Given the description of an element on the screen output the (x, y) to click on. 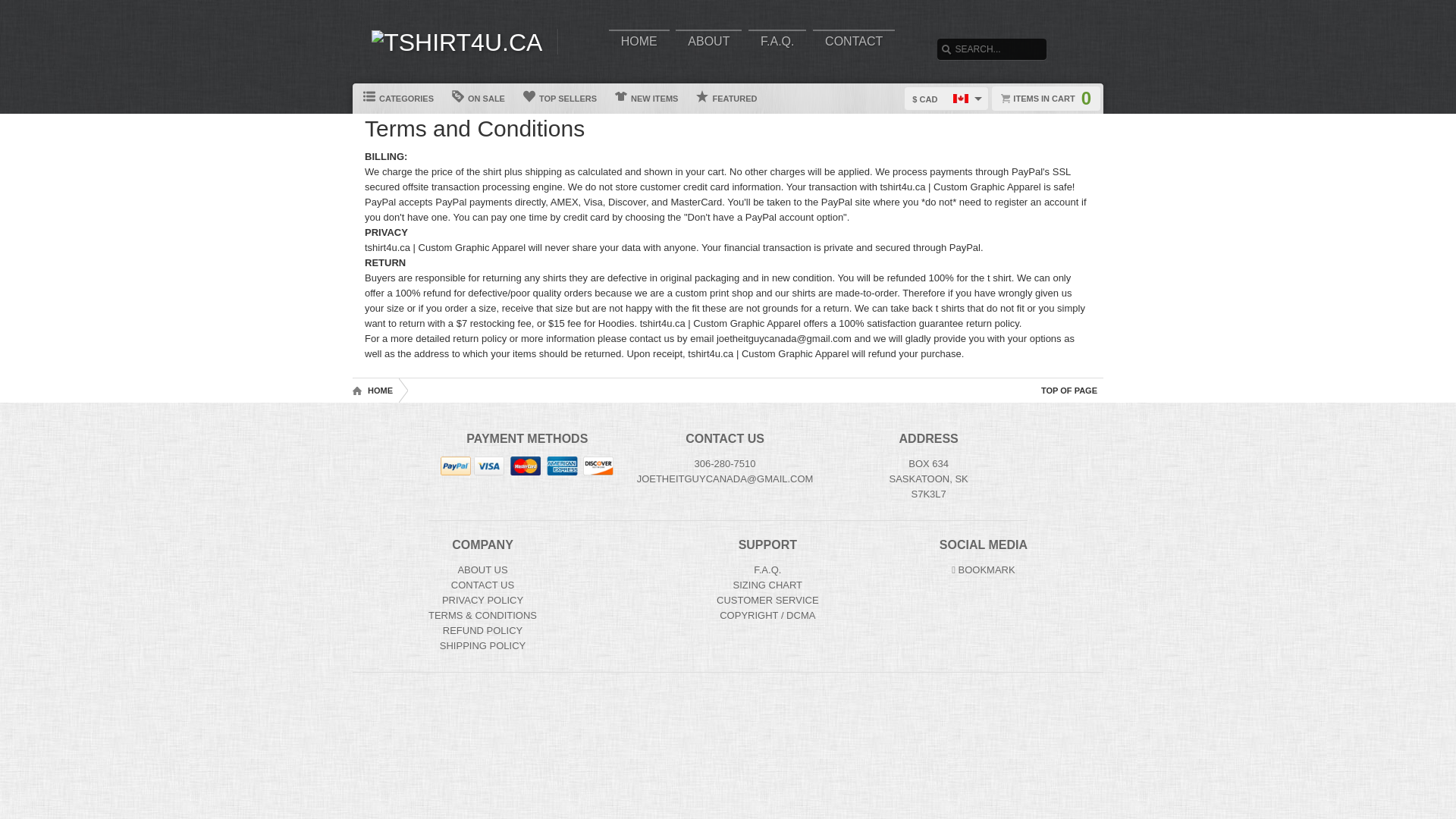
CATEGORIES (398, 98)
SIZING CHART (768, 584)
TOP OF PAGE (1069, 390)
CUSTOMER SERVICE (767, 600)
HOME (638, 41)
ABOUT (708, 41)
F.A.Q. (767, 569)
ABOUT US (481, 569)
SHIPPING POLICY (482, 645)
F.A.Q. (777, 41)
TOP SELLERS (560, 98)
NEW ITEMS (647, 98)
ON SALE (478, 98)
ITEMS IN CART0 (1045, 98)
CONTACT US (482, 584)
